Given the description of an element on the screen output the (x, y) to click on. 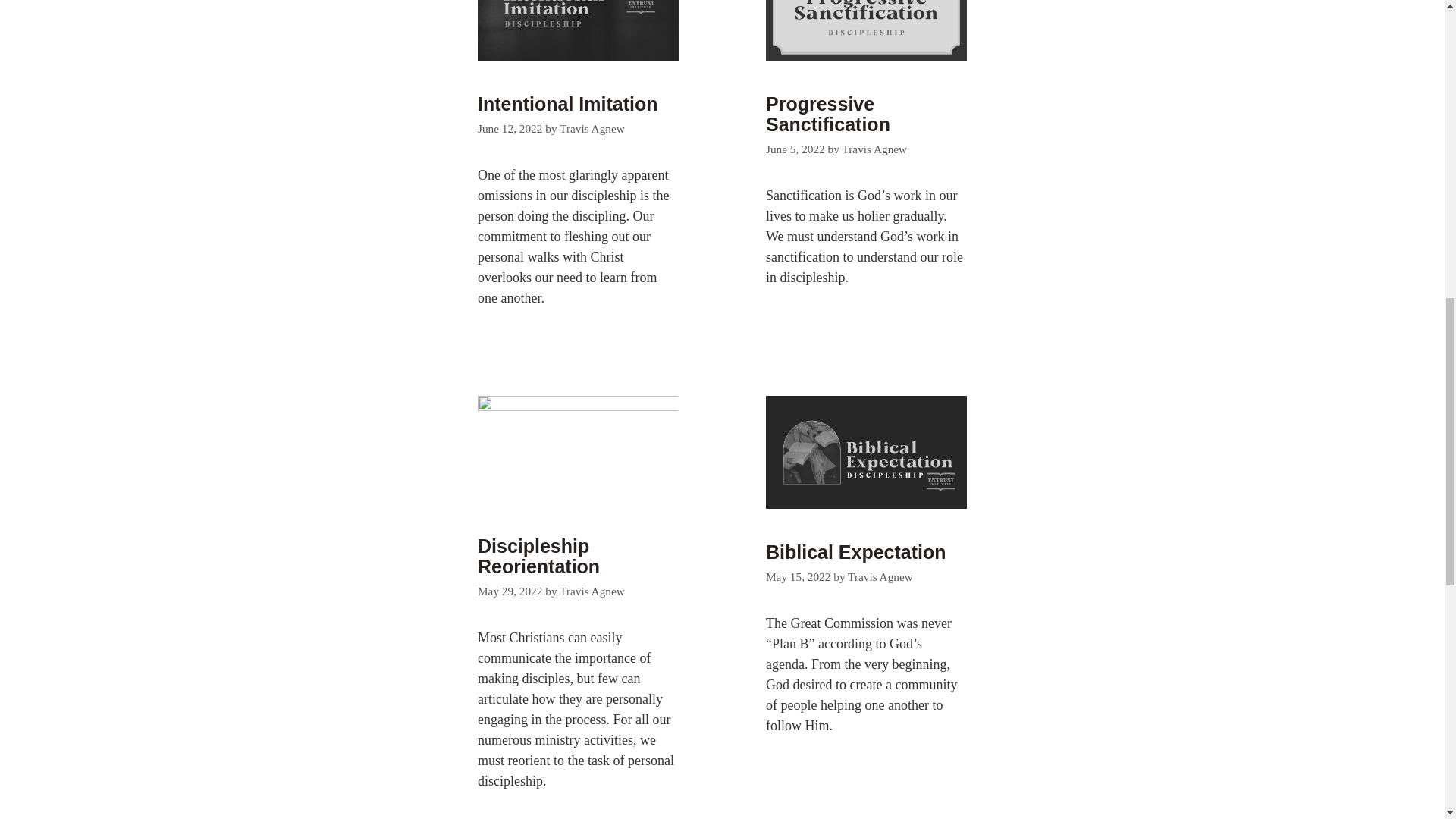
View all posts by Travis Agnew (874, 148)
Discipleship Reorientation (538, 556)
Biblical Expectation (855, 551)
Travis Agnew (591, 128)
Travis Agnew (879, 576)
Scroll back to top (1406, 720)
Travis Agnew (874, 148)
View all posts by Travis Agnew (591, 590)
Progressive Sanctification (827, 114)
View all posts by Travis Agnew (591, 128)
